Given the description of an element on the screen output the (x, y) to click on. 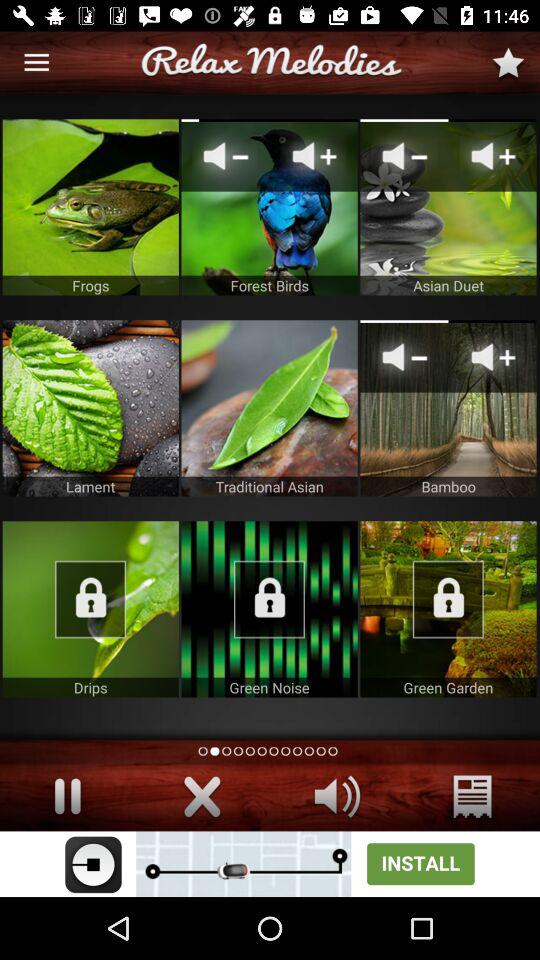
open selected item (90, 408)
